Given the description of an element on the screen output the (x, y) to click on. 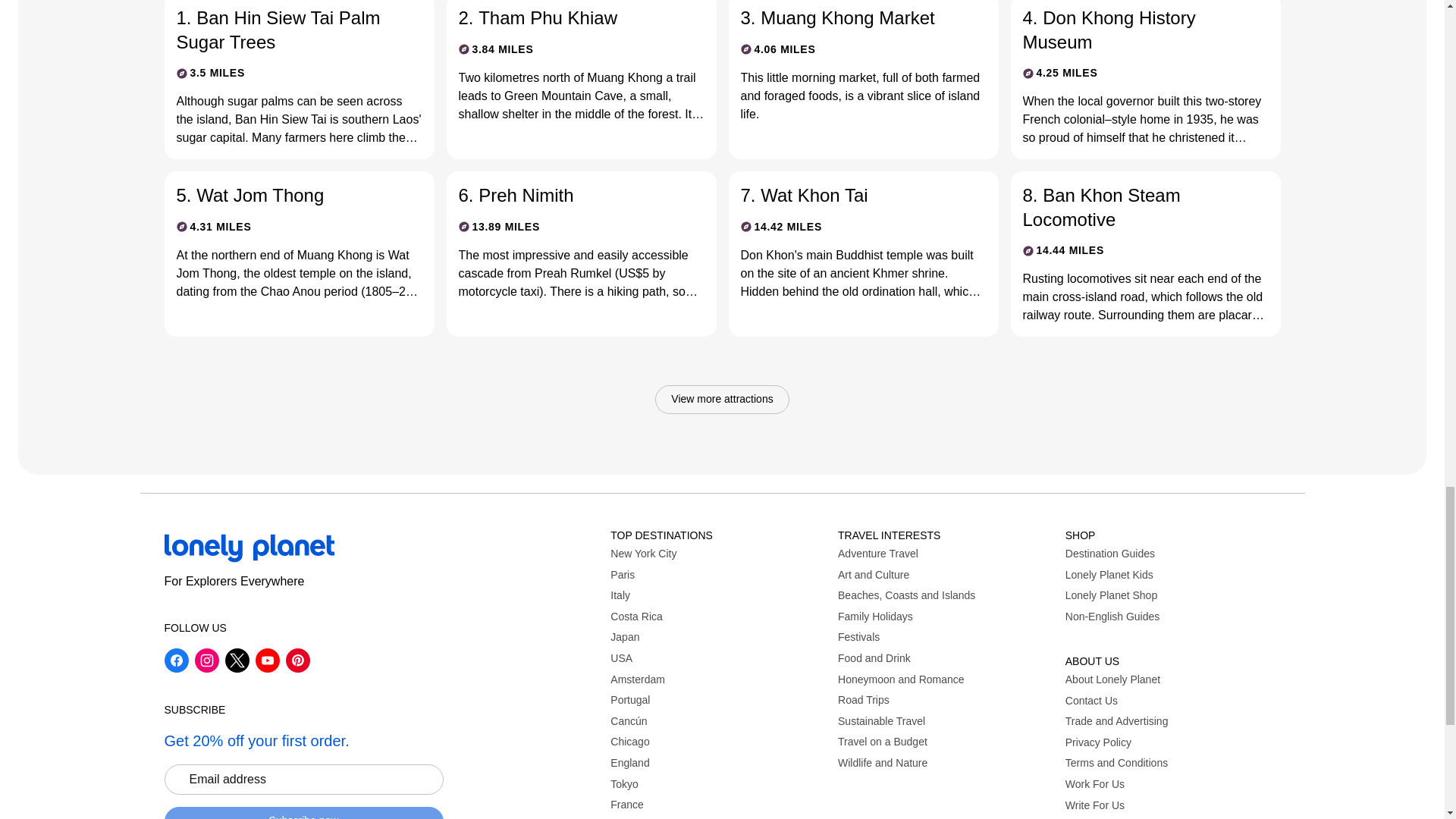
6. Preh Nimith (568, 195)
5. Wat Jom Thong (286, 195)
1. Ban Hin Siew Tai Palm Sugar Trees (286, 29)
4. Don Khong History Museum (1132, 29)
2. Tham Phu Khiaw (568, 17)
7. Wat Khon Tai (849, 195)
3. Muang Khong Market (849, 17)
View more attractions (722, 399)
8. Ban Khon Steam Locomotive (1132, 206)
